Given the description of an element on the screen output the (x, y) to click on. 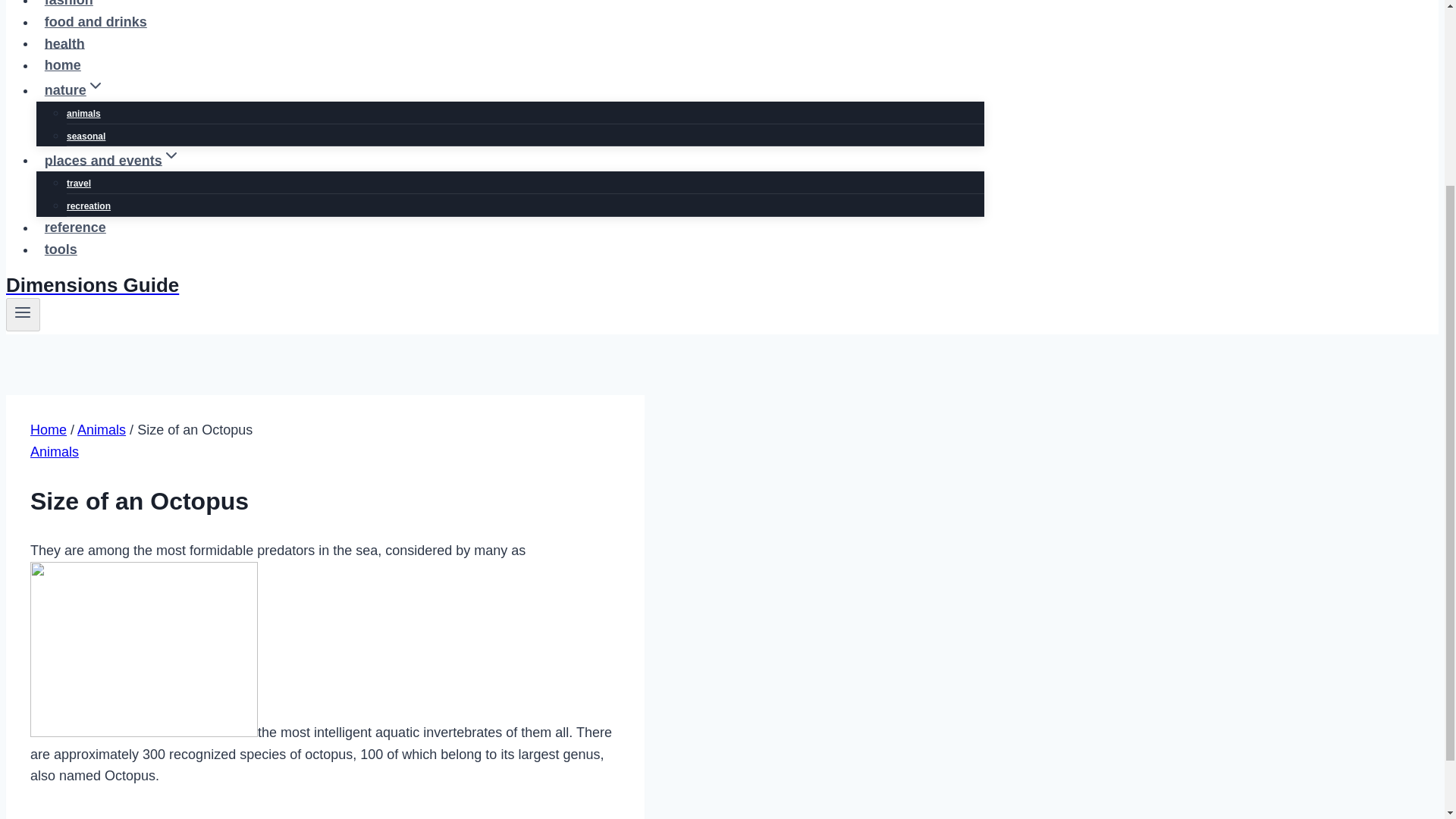
Toggle Menu (22, 312)
animals (83, 113)
seasonal (85, 136)
home (62, 65)
fashion (68, 7)
natureexpand (74, 90)
expand (94, 85)
Animals (101, 429)
places and eventsexpand (112, 160)
Toggle Menu (22, 314)
